Given the description of an element on the screen output the (x, y) to click on. 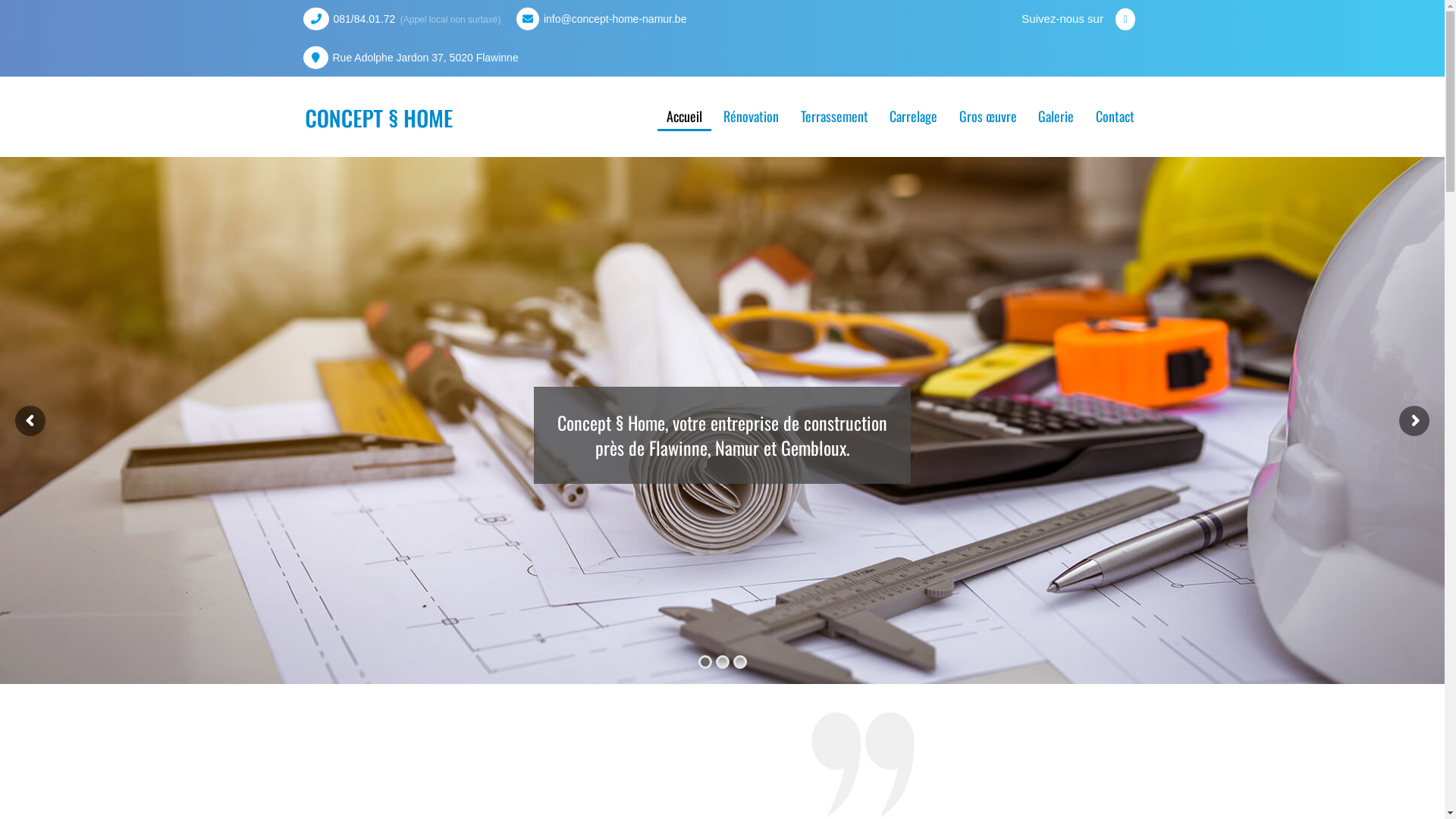
Carrelage Element type: text (913, 115)
081/84.01.72 Element type: text (364, 18)
Contact Element type: text (1113, 115)
Accueil Element type: text (684, 117)
Galerie Element type: text (1055, 115)
Terrassement Element type: text (834, 115)
info@concept-home-namur.be Element type: text (615, 18)
